Given the description of an element on the screen output the (x, y) to click on. 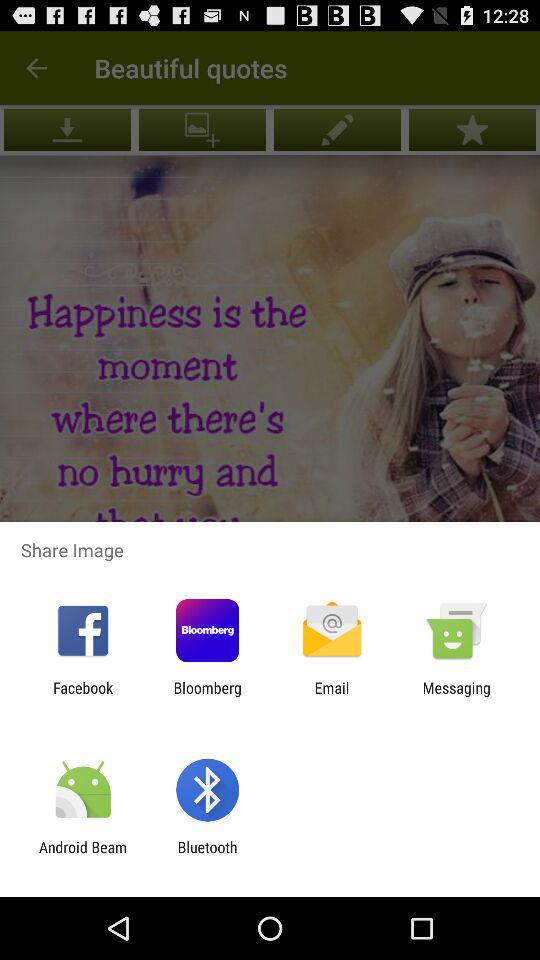
click facebook icon (83, 696)
